Given the description of an element on the screen output the (x, y) to click on. 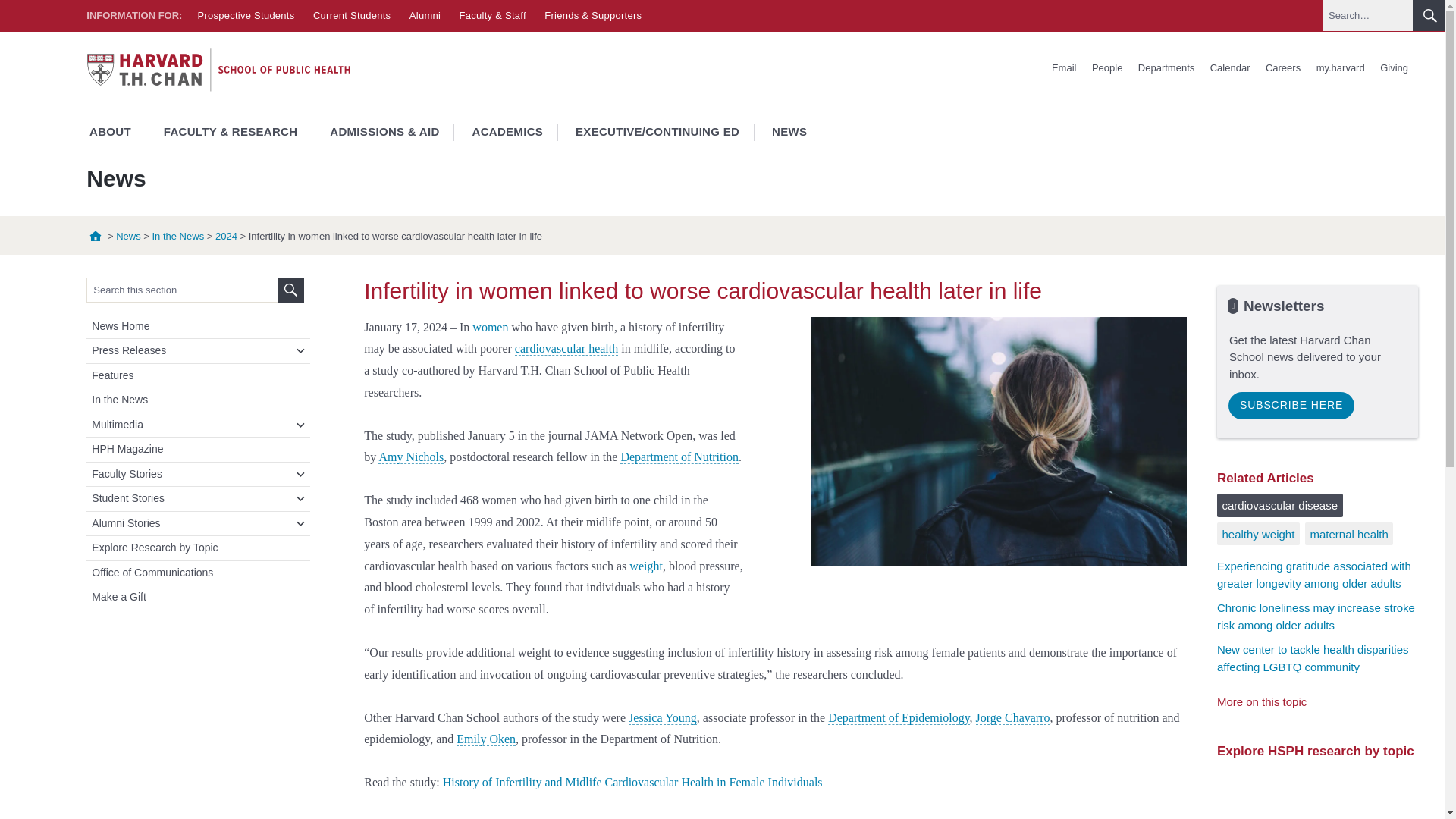
Departments (1165, 67)
ABOUT (109, 131)
Email (1064, 67)
Giving (1393, 67)
News Home (200, 326)
People (1107, 67)
my.harvard (1340, 67)
Manage Student Information (1340, 67)
News (128, 235)
Current Students (351, 15)
Alumni (425, 15)
Search (291, 290)
Go to In the News. (177, 235)
Careers (1282, 67)
In the News (177, 235)
